Given the description of an element on the screen output the (x, y) to click on. 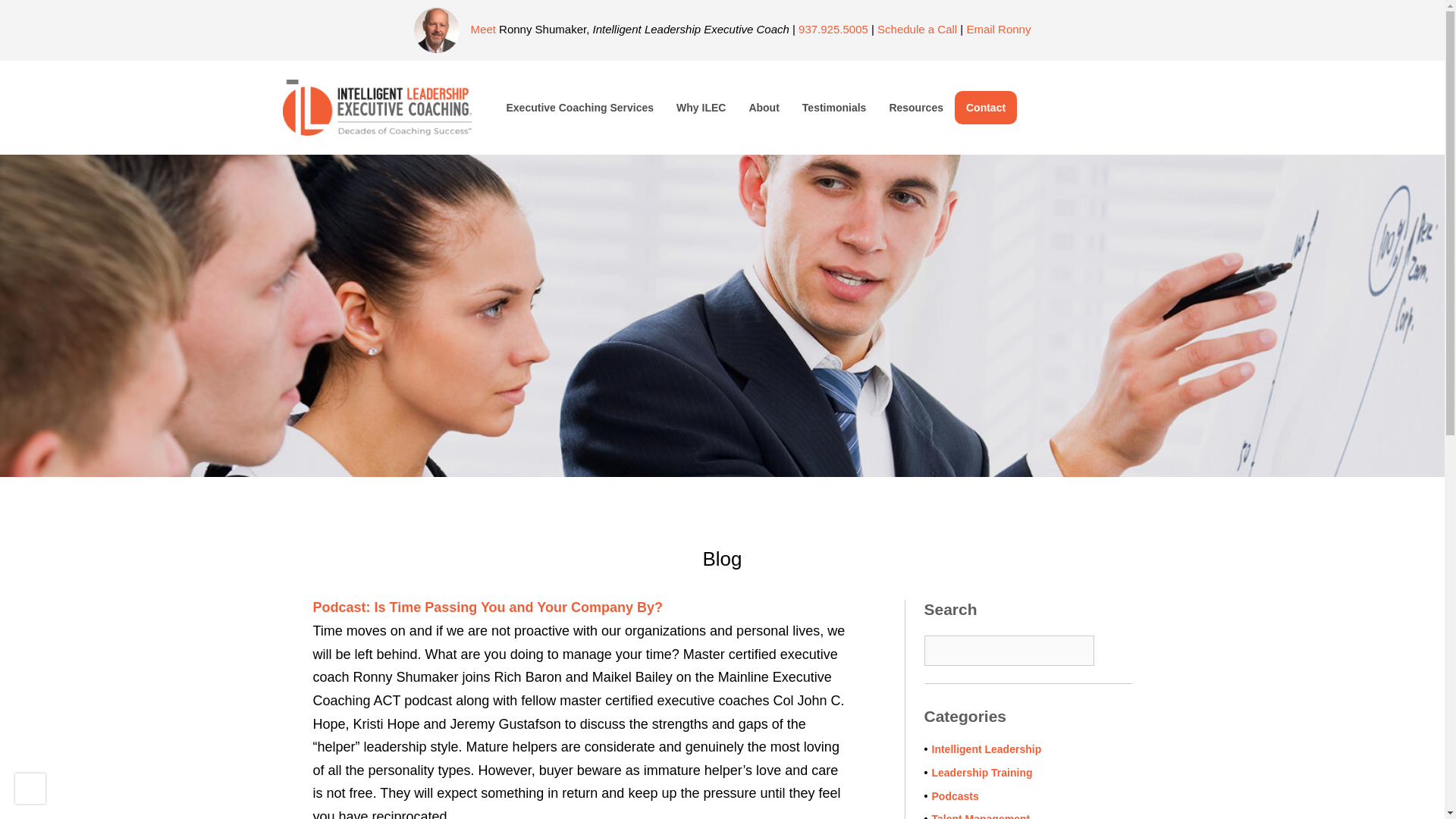
Executive Coaching Services (580, 107)
Schedule a Call (916, 29)
Meet (483, 29)
Email Ronny (998, 29)
Why ILEC (700, 107)
937.925.5005 (832, 29)
